Given the description of an element on the screen output the (x, y) to click on. 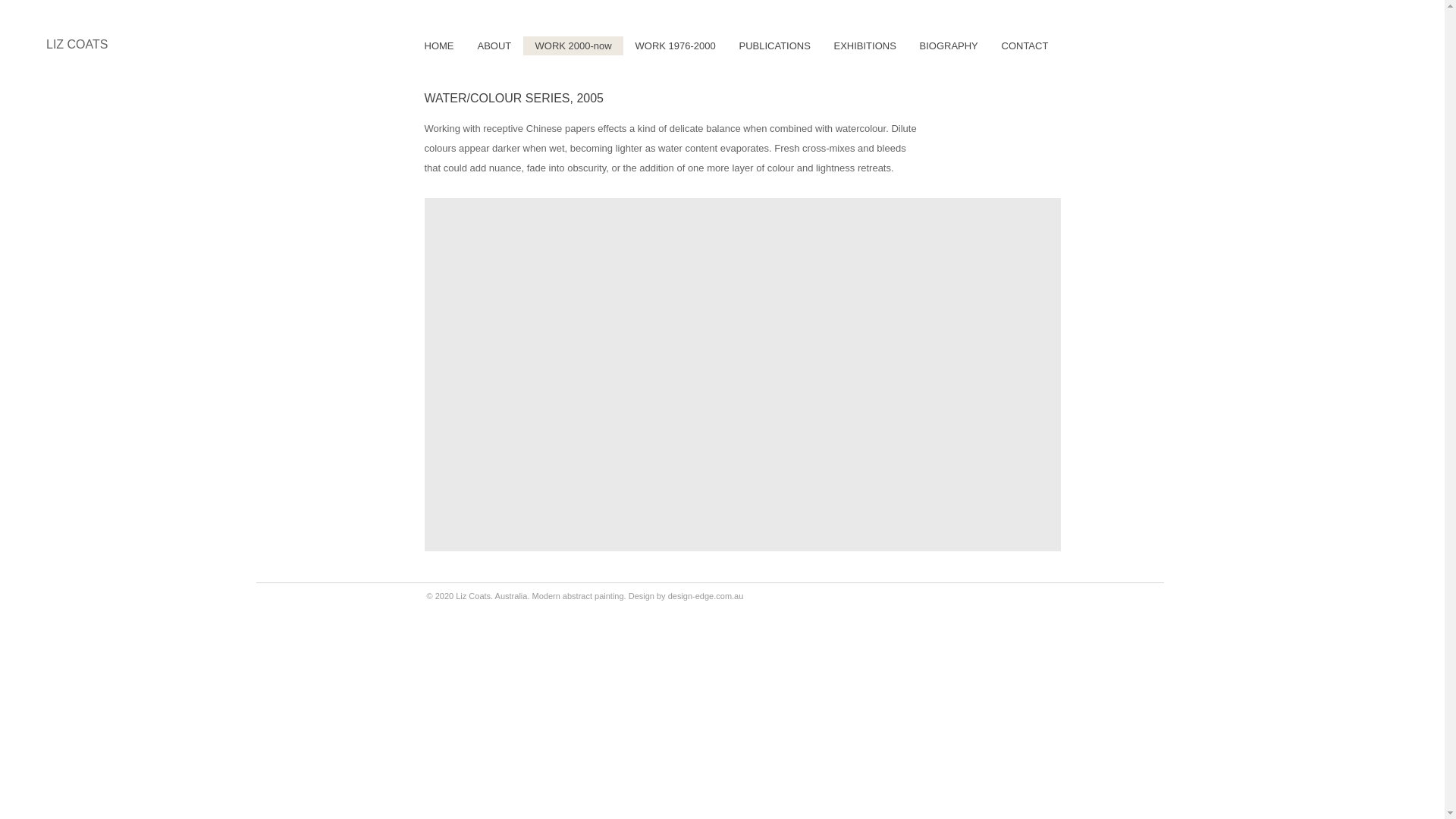
CONTACT Element type: text (1023, 45)
WORK 2000-now Element type: text (573, 45)
LIZ COATS Element type: text (77, 43)
EXHIBITIONS Element type: text (864, 45)
design-edge.com.au Element type: text (705, 595)
BIOGRAPHY Element type: text (947, 45)
WORK 1976-2000 Element type: text (675, 45)
HOME Element type: text (438, 45)
ABOUT Element type: text (494, 45)
